Given the description of an element on the screen output the (x, y) to click on. 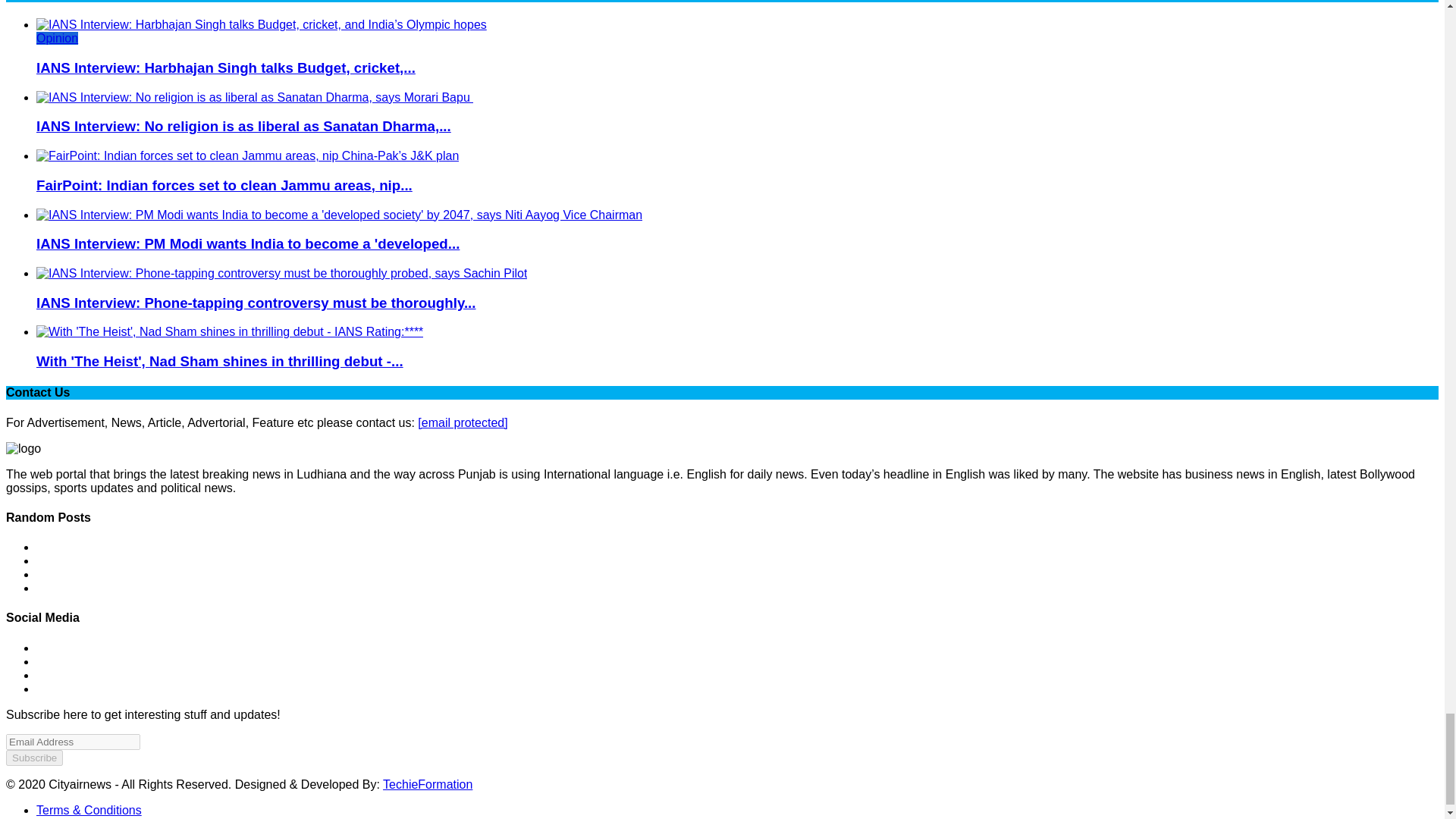
Subscribe (33, 757)
